Given the description of an element on the screen output the (x, y) to click on. 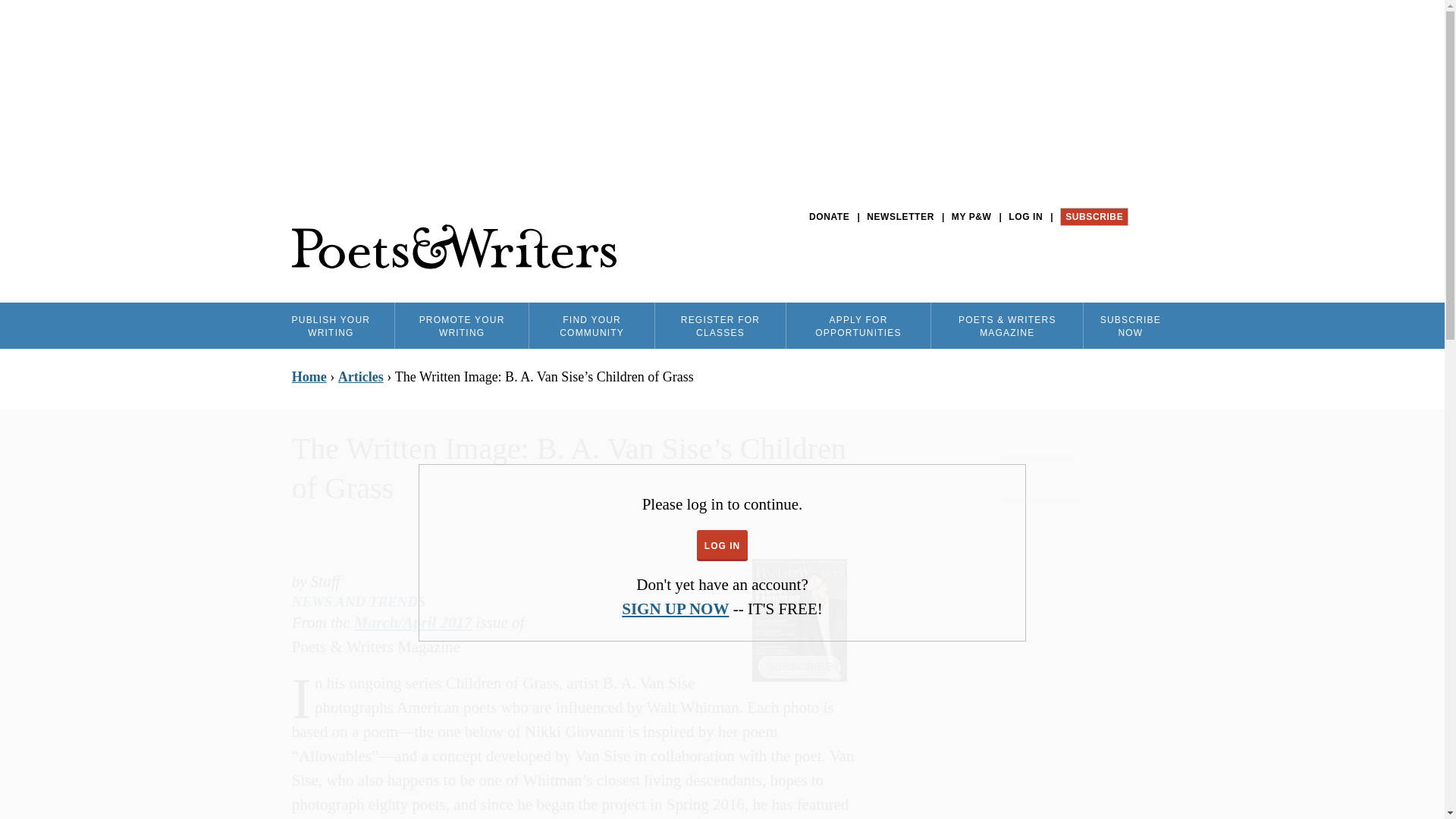
Publish Your Writing (330, 325)
Home (453, 246)
DONATE (828, 216)
NEWSLETTER (900, 216)
SUBSCRIBE (1093, 217)
PUBLISH YOUR WRITING (330, 325)
LOG IN (1025, 216)
PROMOTE YOUR WRITING (461, 325)
